Given the description of an element on the screen output the (x, y) to click on. 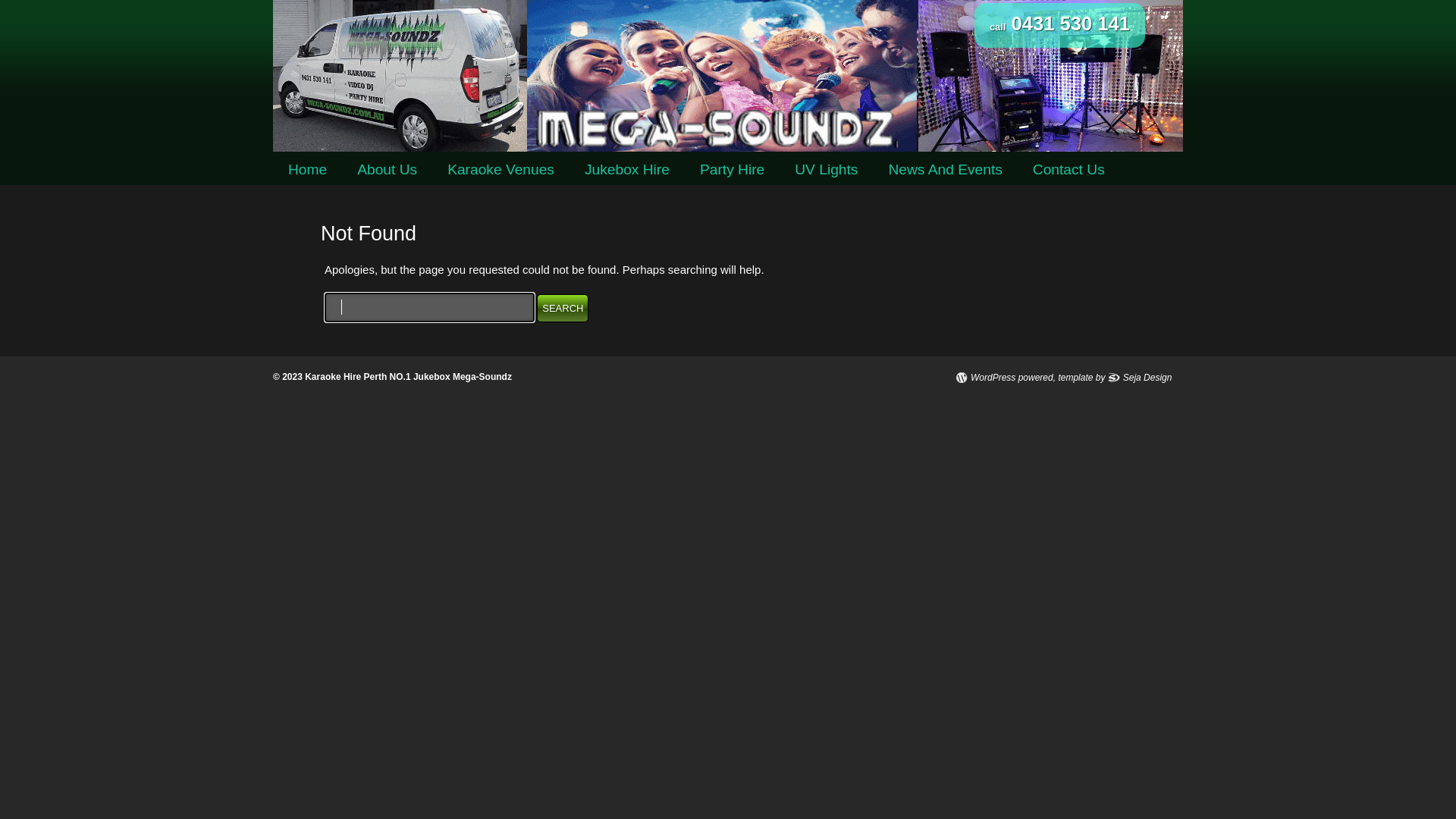
UV Lights Element type: text (825, 169)
Jukebox Hire Element type: text (626, 169)
Party Hire Element type: text (731, 169)
Home Element type: text (307, 169)
Search Element type: text (562, 308)
Karaoke Venues Element type: text (500, 169)
Seja Design Element type: text (1139, 377)
About Us Element type: text (387, 169)
call 0431 530 141 Element type: text (1059, 25)
News And Events Element type: text (944, 169)
Contact Us Element type: text (1068, 169)
WordPress powered Element type: text (1004, 377)
